Given the description of an element on the screen output the (x, y) to click on. 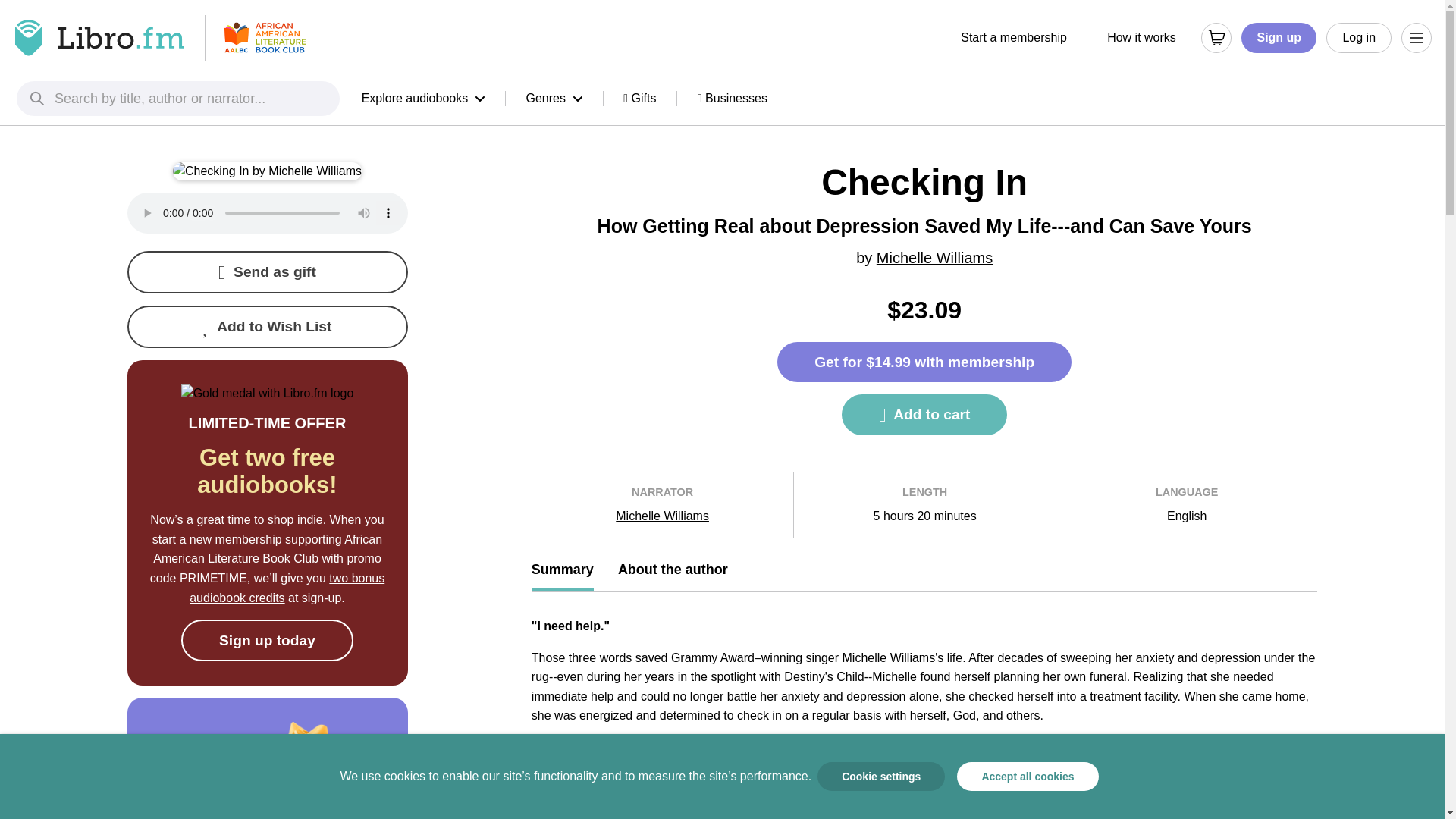
Cookie settings (880, 776)
Accept all cookies (1026, 776)
